Given the description of an element on the screen output the (x, y) to click on. 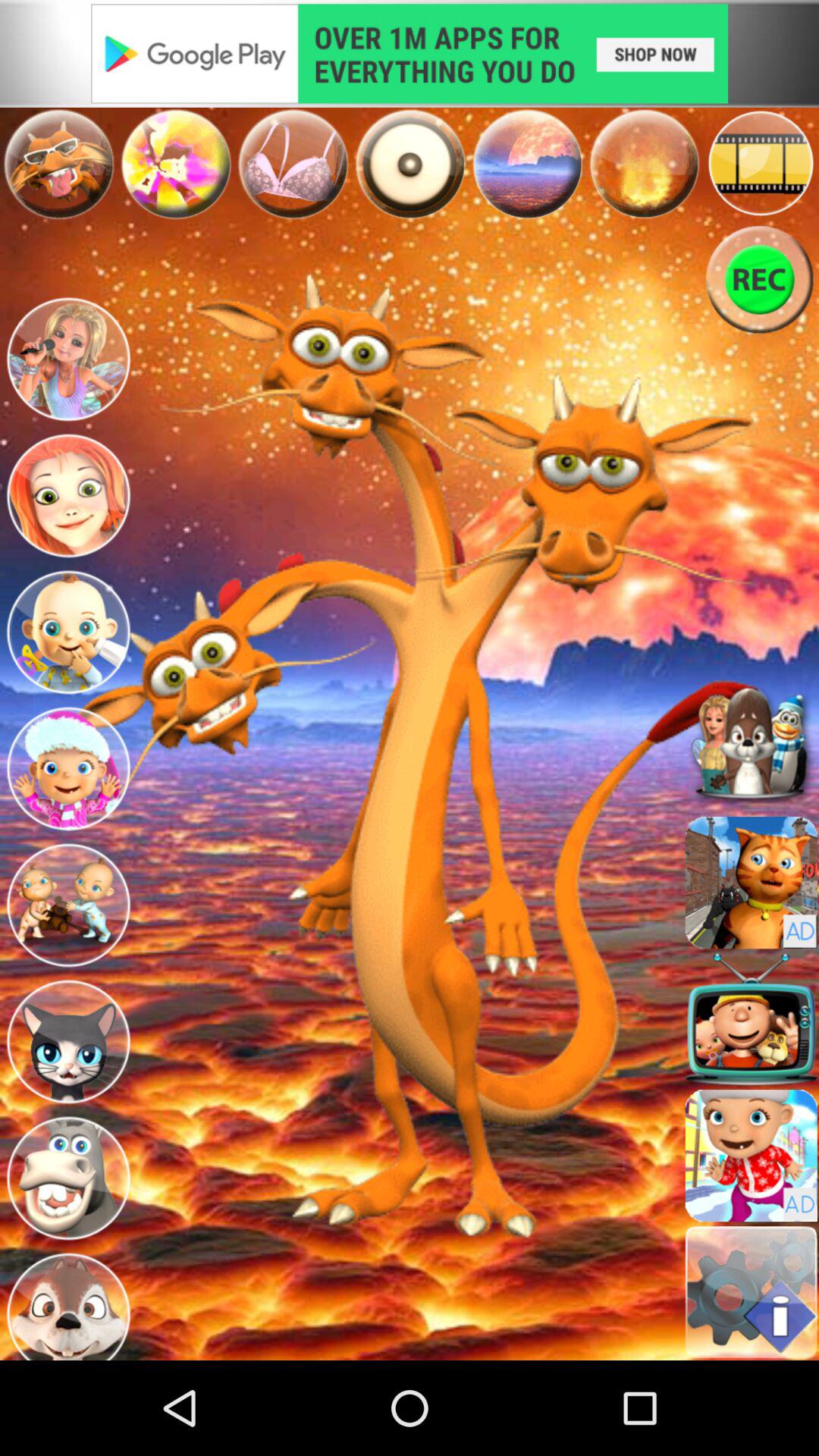
choose your avatar (68, 632)
